Given the description of an element on the screen output the (x, y) to click on. 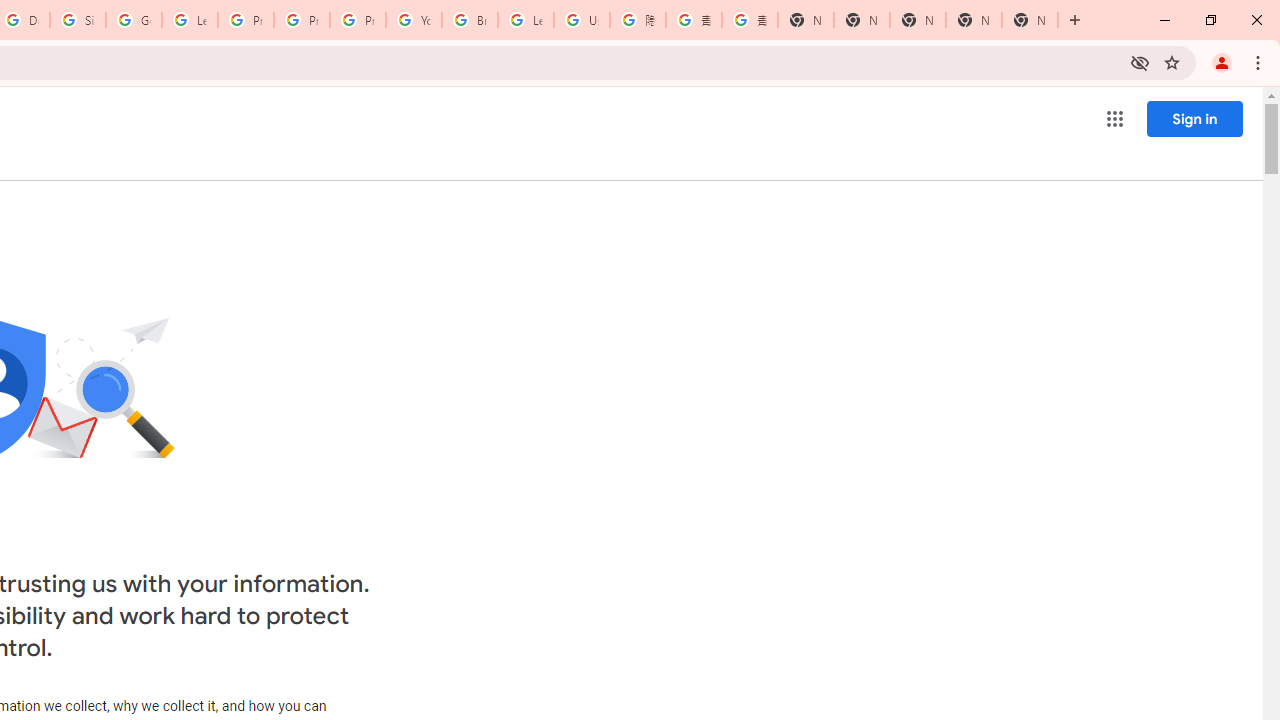
New Tab (1030, 20)
Sign in - Google Accounts (77, 20)
Privacy Help Center - Policies Help (245, 20)
